Given the description of an element on the screen output the (x, y) to click on. 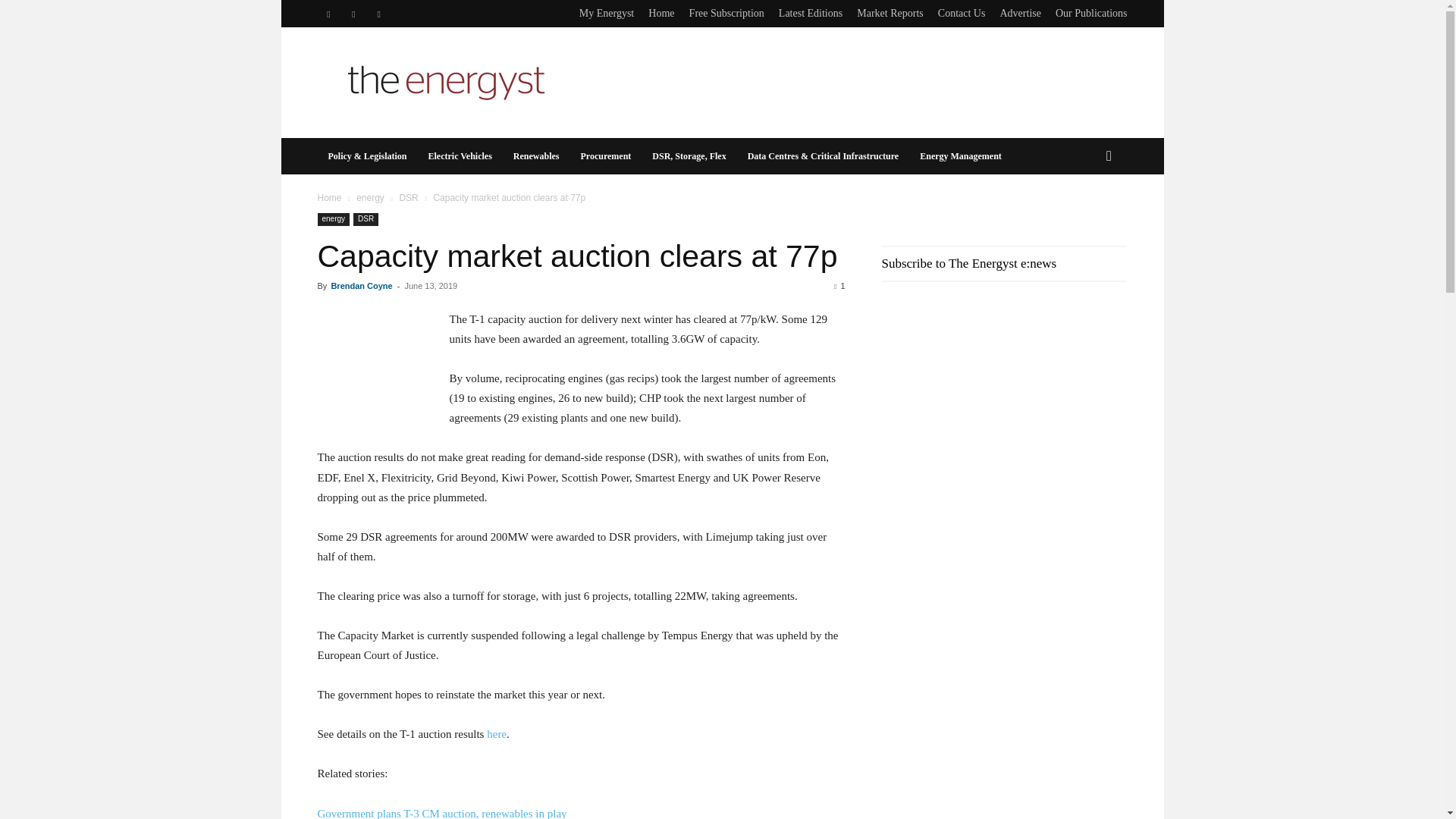
energy (370, 197)
Energy Management (959, 156)
Linkedin (328, 13)
Search (1085, 216)
Free Subscription (726, 12)
Procurement (605, 156)
Electric Vehicles (459, 156)
Home (660, 12)
Youtube (379, 13)
Our Publications (1090, 12)
DSR, Storage, Flex (689, 156)
View all posts in DSR (407, 197)
Advertise (1019, 12)
Latest Editions (810, 12)
My Energyst (606, 12)
